Given the description of an element on the screen output the (x, y) to click on. 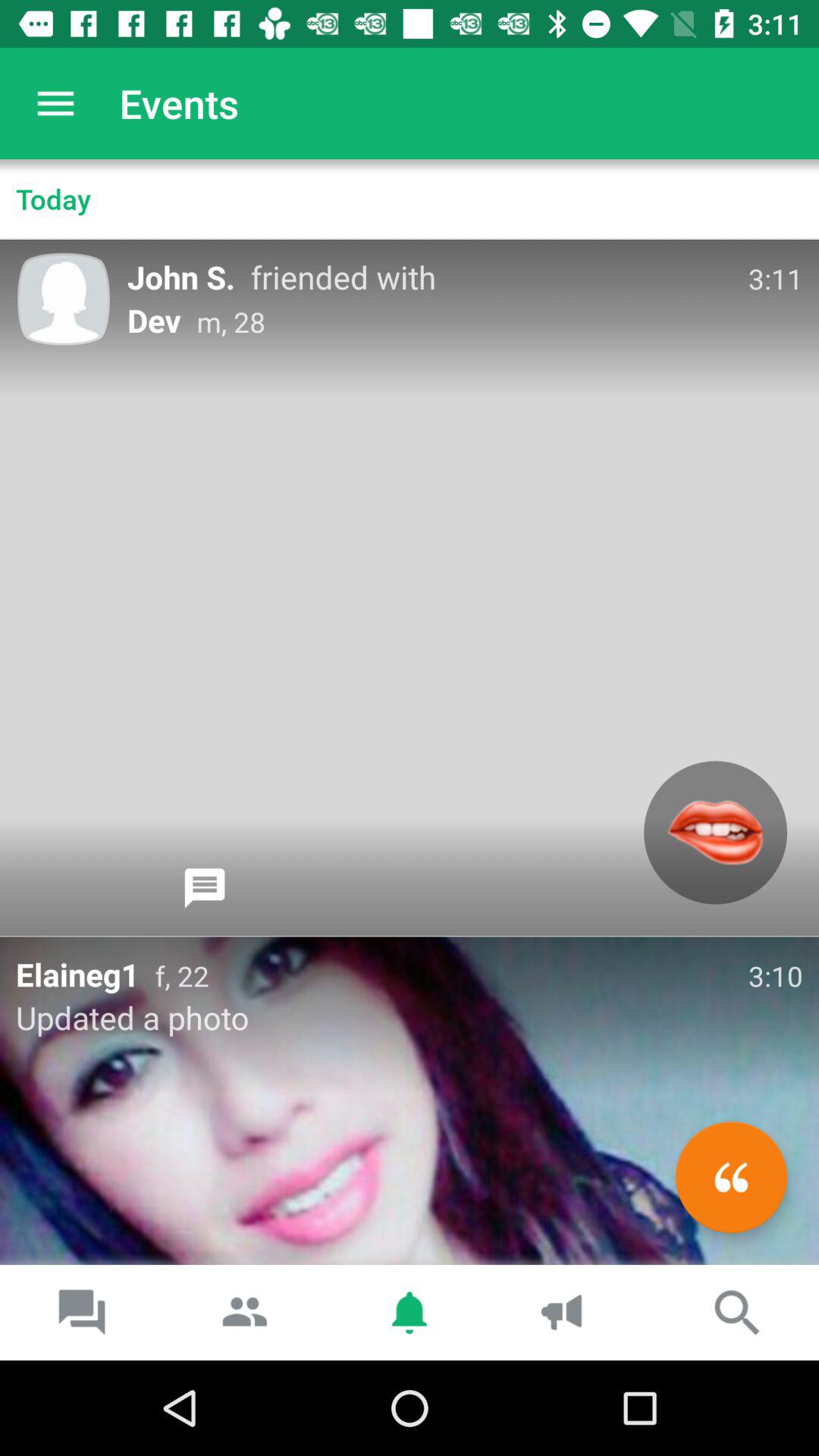
open icon below the f, 22 item (731, 1177)
